Given the description of an element on the screen output the (x, y) to click on. 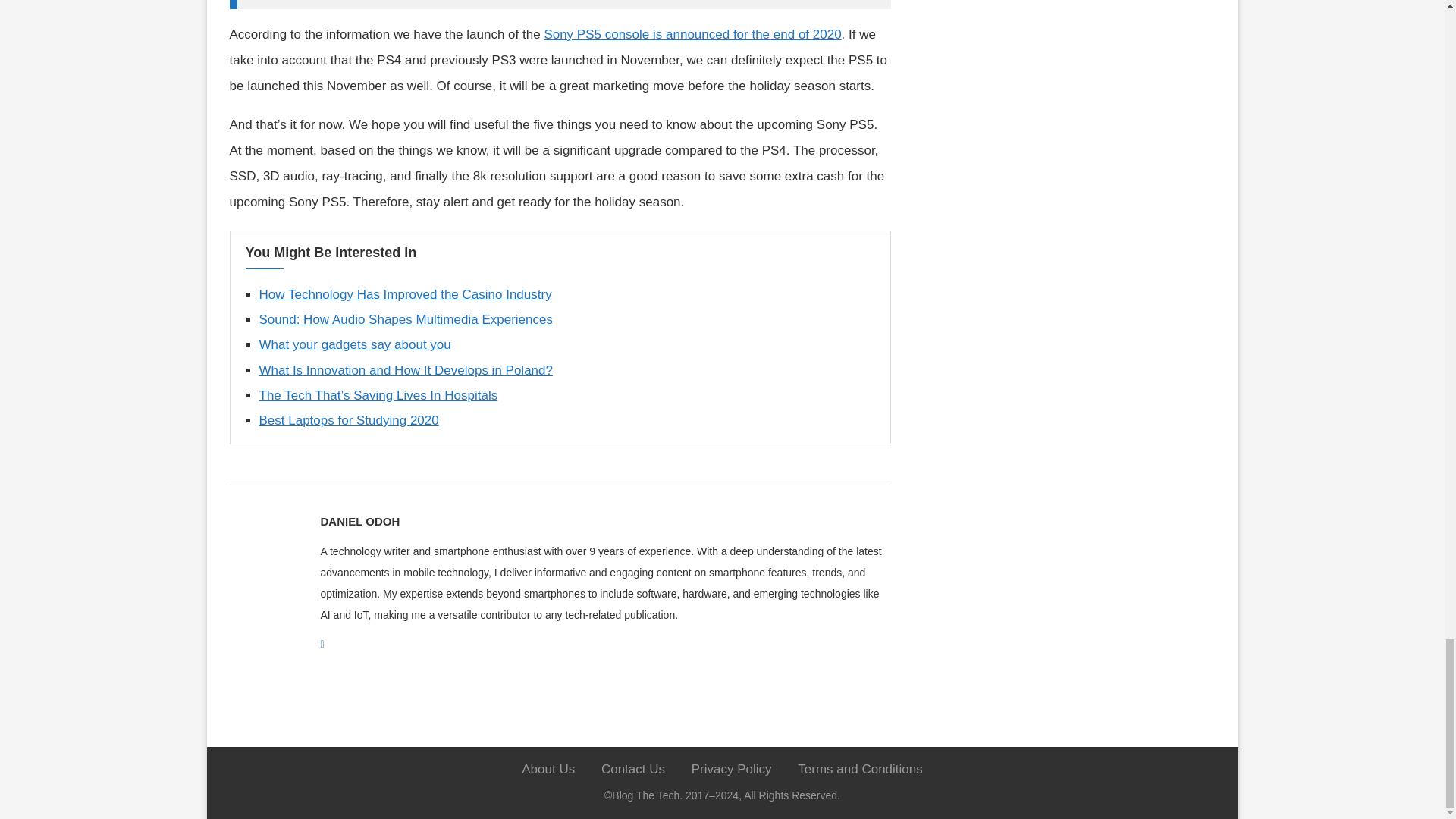
Best Laptops for Studying 2020 (349, 420)
Author Daniel Odoh (359, 521)
How Technology Has Improved the Casino Industry (405, 294)
Sound: How Audio Shapes Multimedia Experiences (406, 319)
What your gadgets say about you (355, 344)
Sony PS5 console is announced for the end of 2020 (692, 34)
What Is Innovation and How It Develops in Poland? (406, 370)
